Given the description of an element on the screen output the (x, y) to click on. 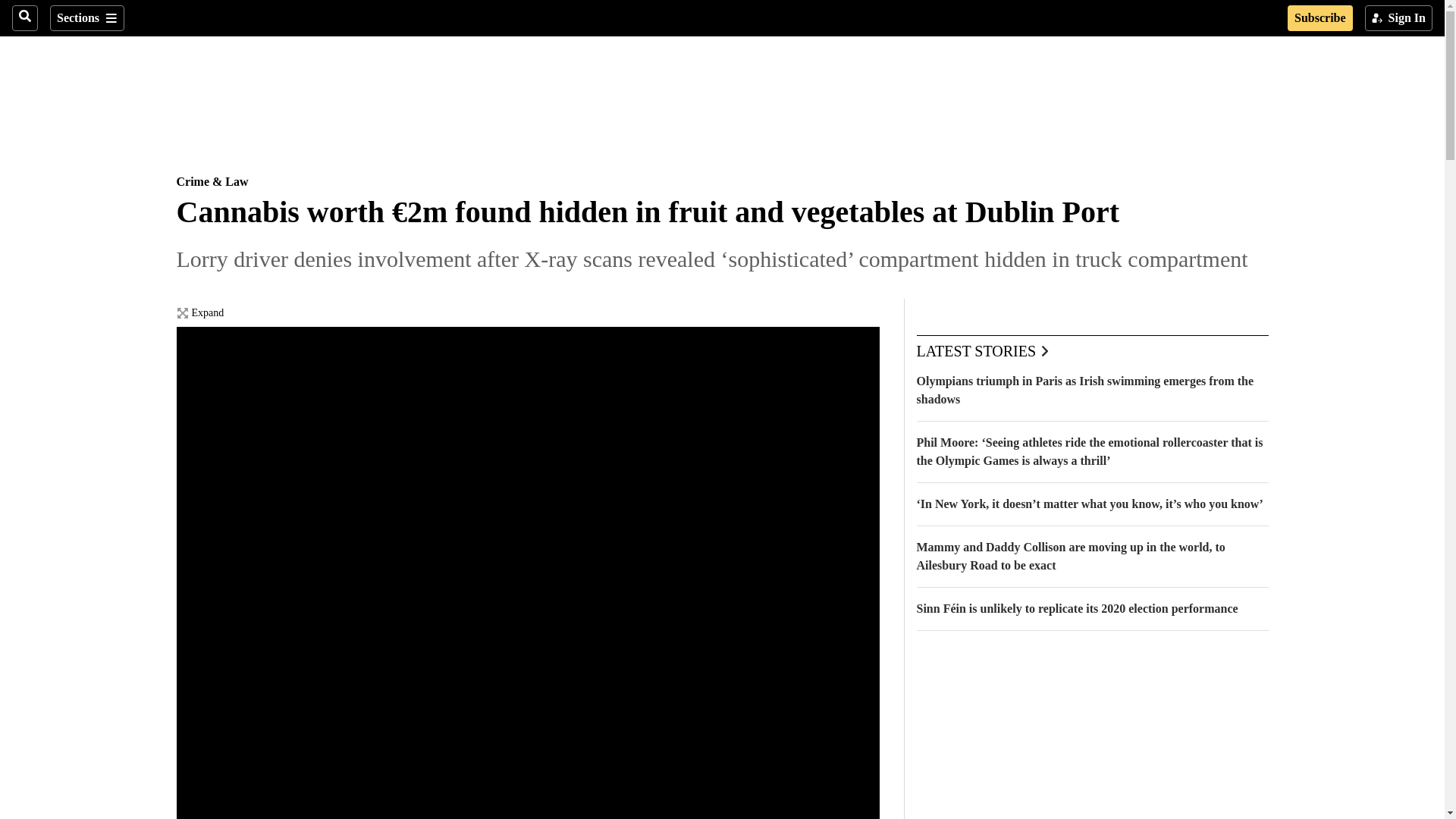
Sign In (1398, 17)
Subscribe (1319, 17)
Sections (86, 17)
